Given the description of an element on the screen output the (x, y) to click on. 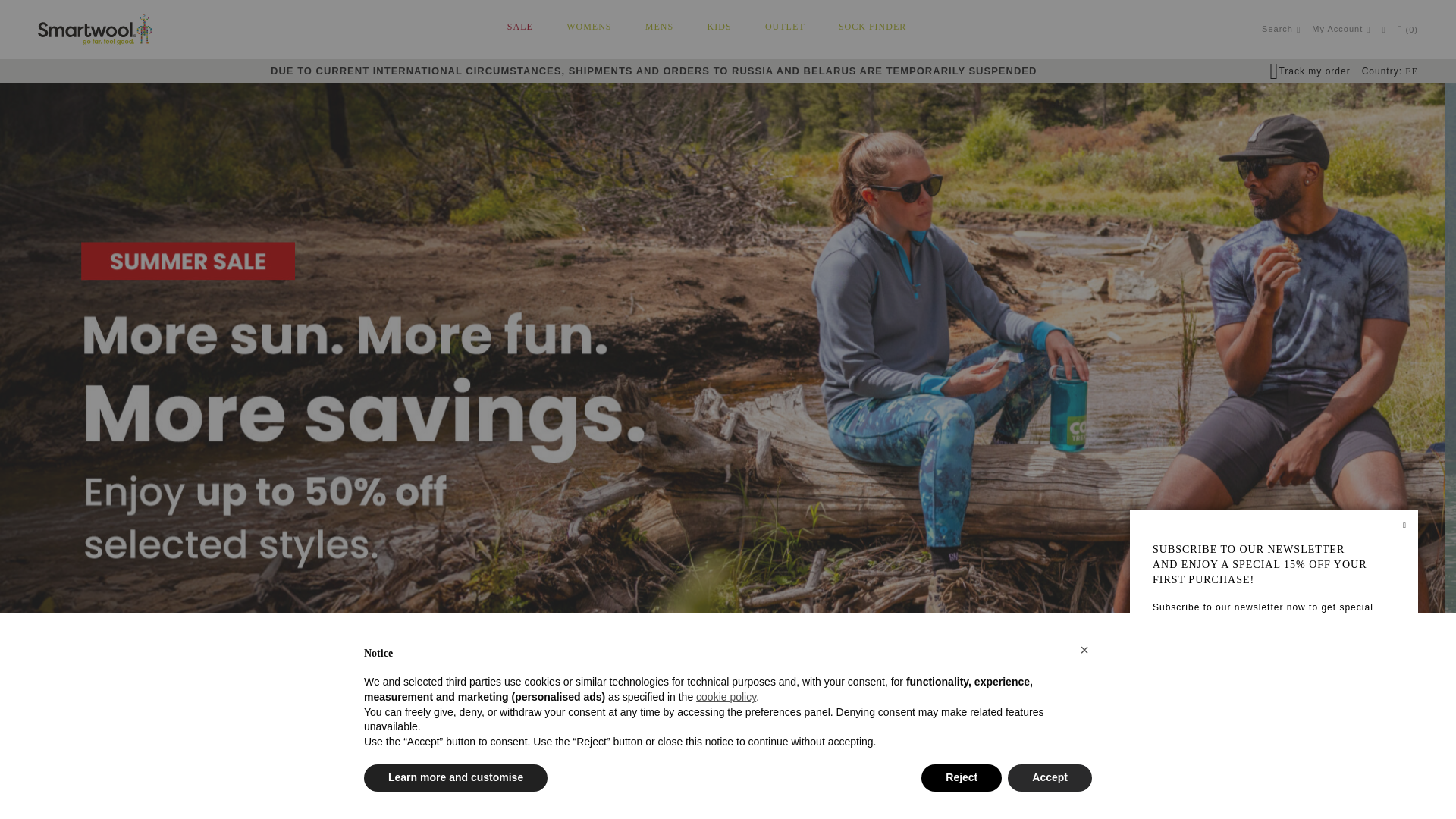
on (1158, 700)
SALE (520, 27)
WOMENS (588, 27)
Smartwool (94, 29)
